Given the description of an element on the screen output the (x, y) to click on. 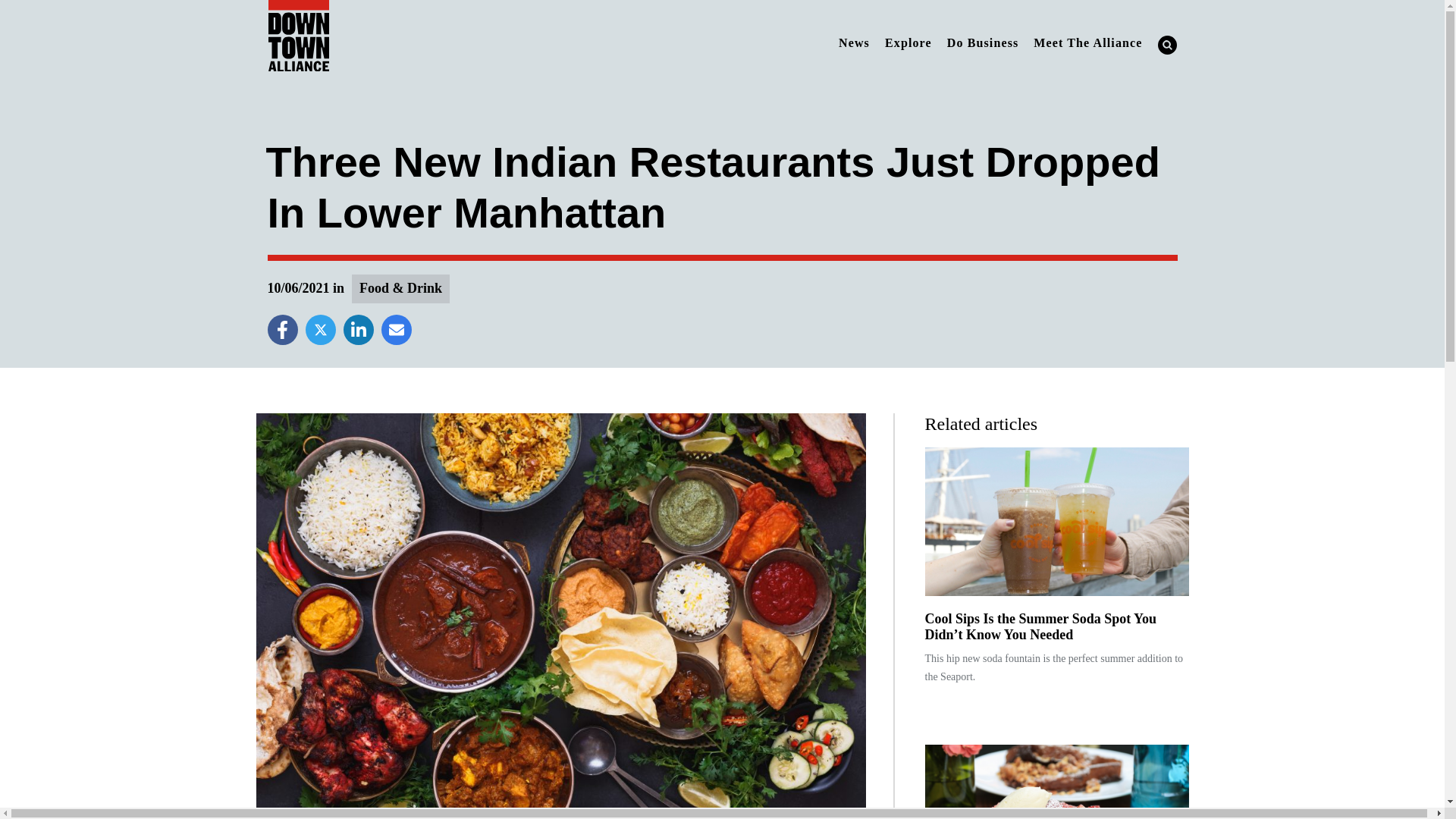
Meet The Alliance (1087, 42)
News (853, 42)
Explore (908, 42)
Do Business (983, 42)
